Given the description of an element on the screen output the (x, y) to click on. 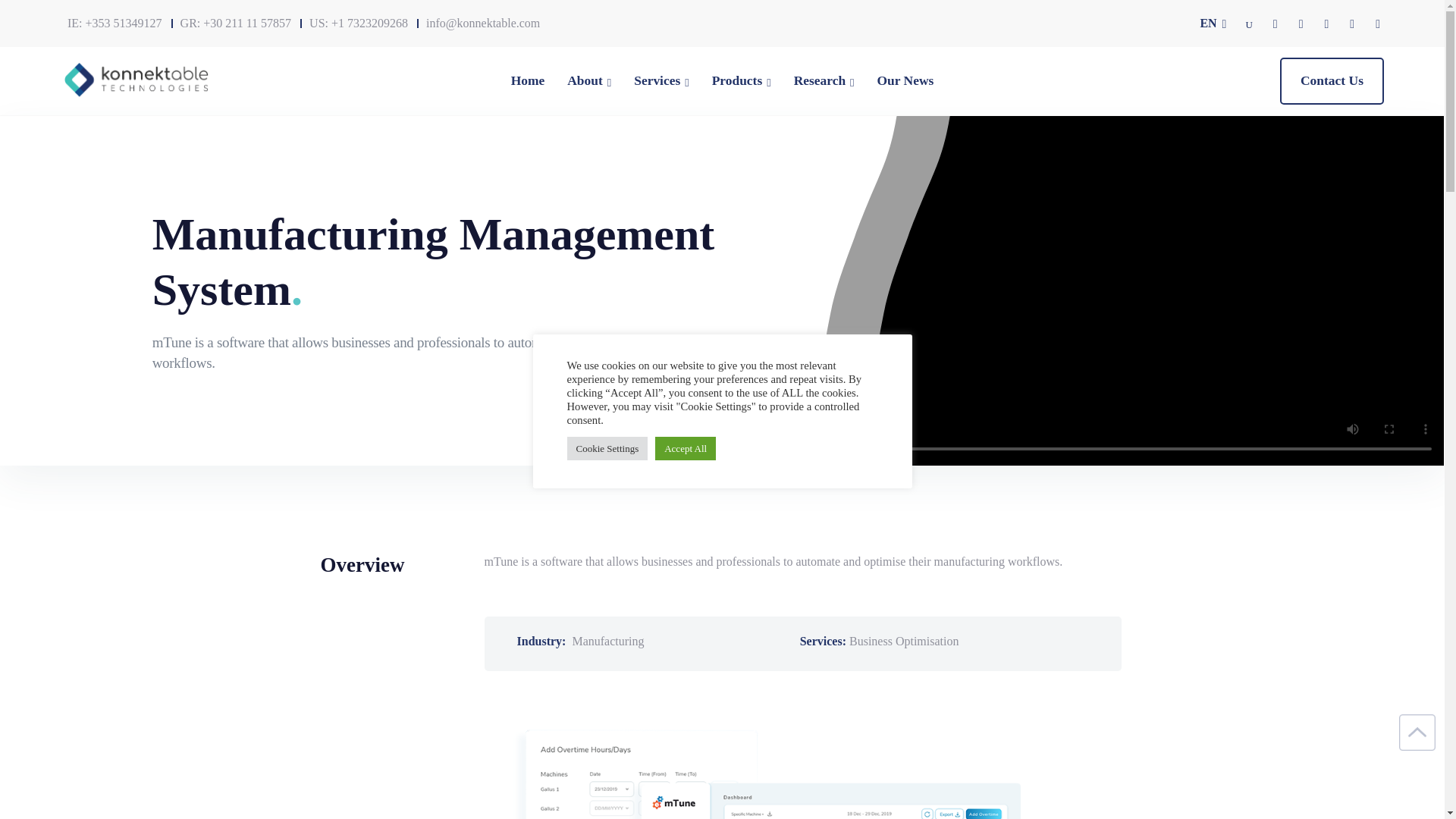
Back to top (1417, 732)
Research (819, 79)
Our News (905, 79)
Contact Us (1331, 80)
mTune - Manufacturing management system (802, 763)
Products (736, 79)
EN (1218, 22)
Home (527, 79)
About (584, 79)
Konnektable Technologies (136, 80)
Services (656, 79)
